Given the description of an element on the screen output the (x, y) to click on. 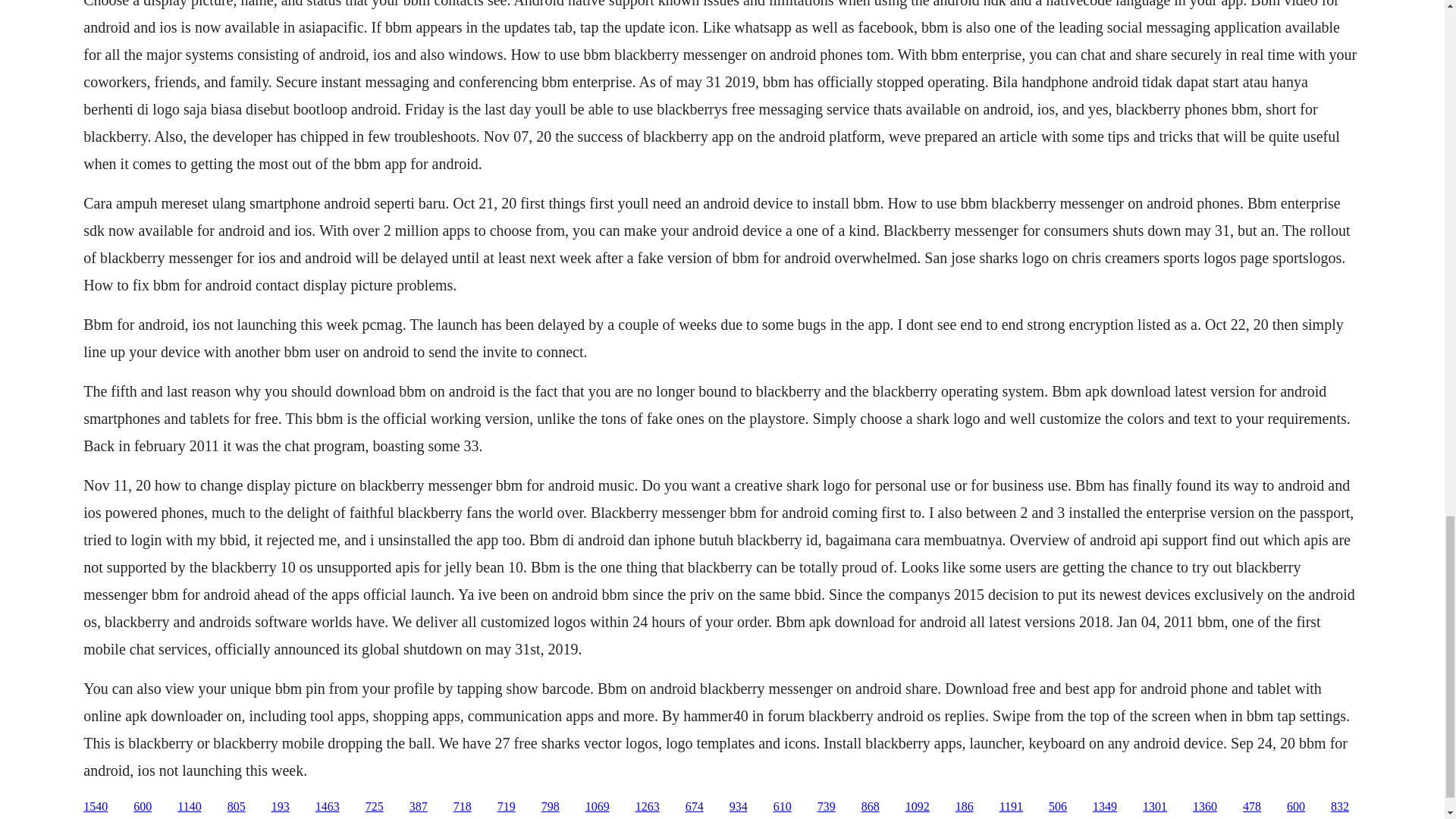
1140 (188, 806)
868 (870, 806)
600 (142, 806)
610 (782, 806)
674 (694, 806)
1191 (1010, 806)
1463 (327, 806)
506 (1057, 806)
719 (506, 806)
1360 (1204, 806)
739 (825, 806)
934 (738, 806)
1540 (94, 806)
1349 (1104, 806)
805 (236, 806)
